Given the description of an element on the screen output the (x, y) to click on. 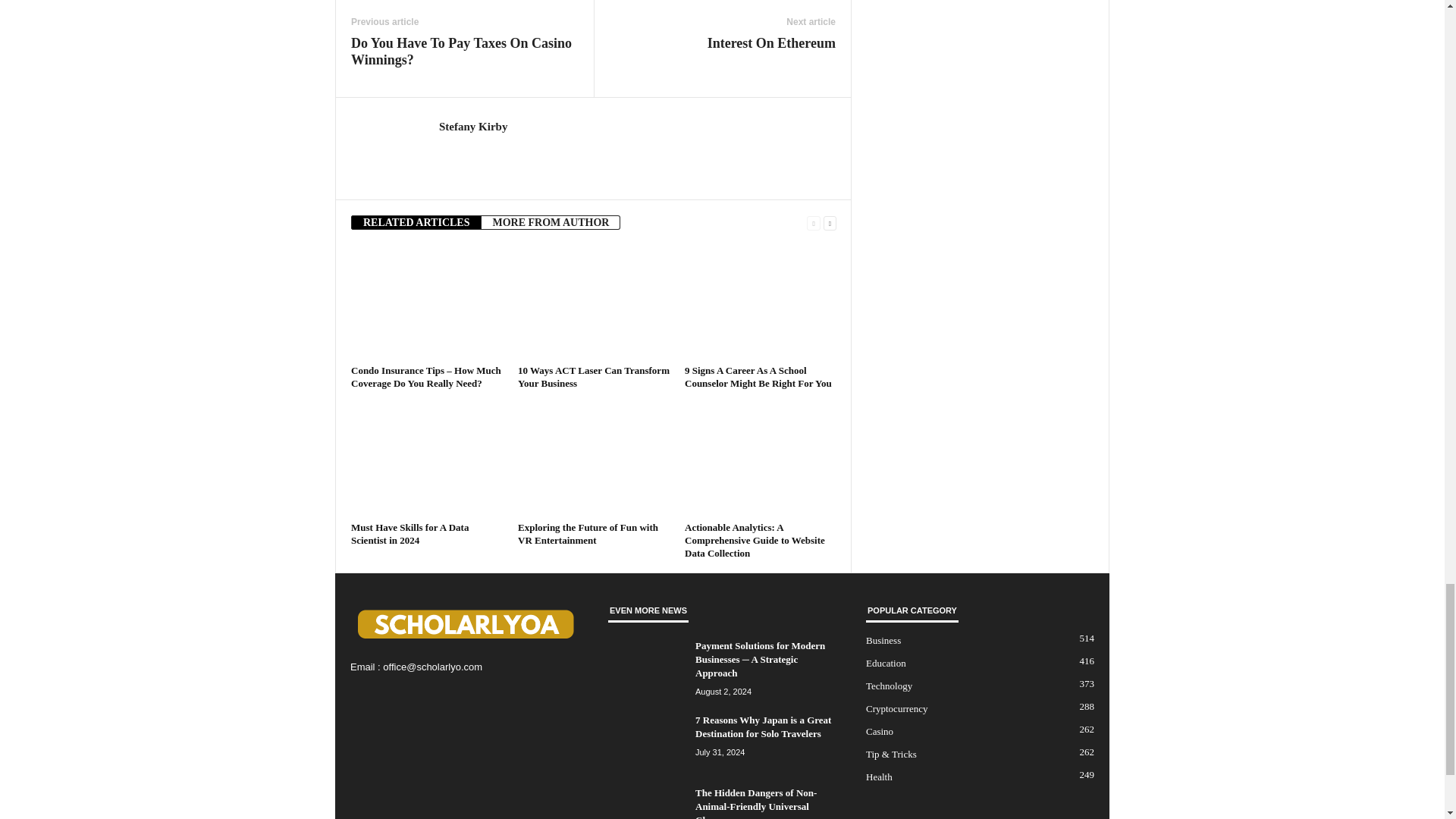
10 Ways ACT Laser Can Transform Your Business (593, 376)
10 Ways ACT Laser Can Transform Your Business (593, 302)
